Given the description of an element on the screen output the (x, y) to click on. 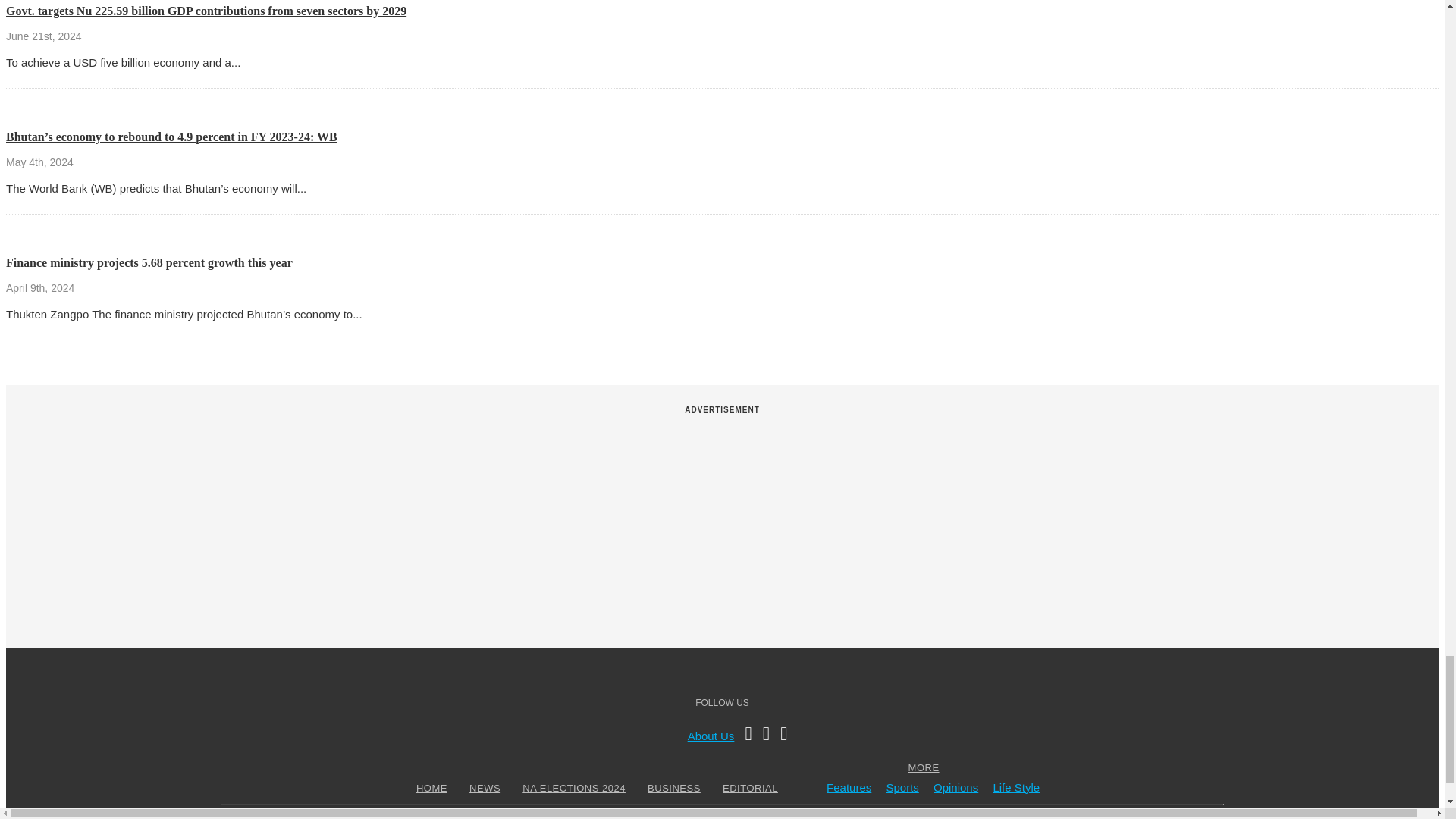
HOME (431, 787)
NA ELECTIONS 2024 (573, 787)
MORE (923, 767)
NEWS (484, 787)
BUSINESS (673, 787)
About Us (711, 735)
Finance ministry projects 5.68 percent growth this year (148, 262)
EDITORIAL (750, 787)
